Given the description of an element on the screen output the (x, y) to click on. 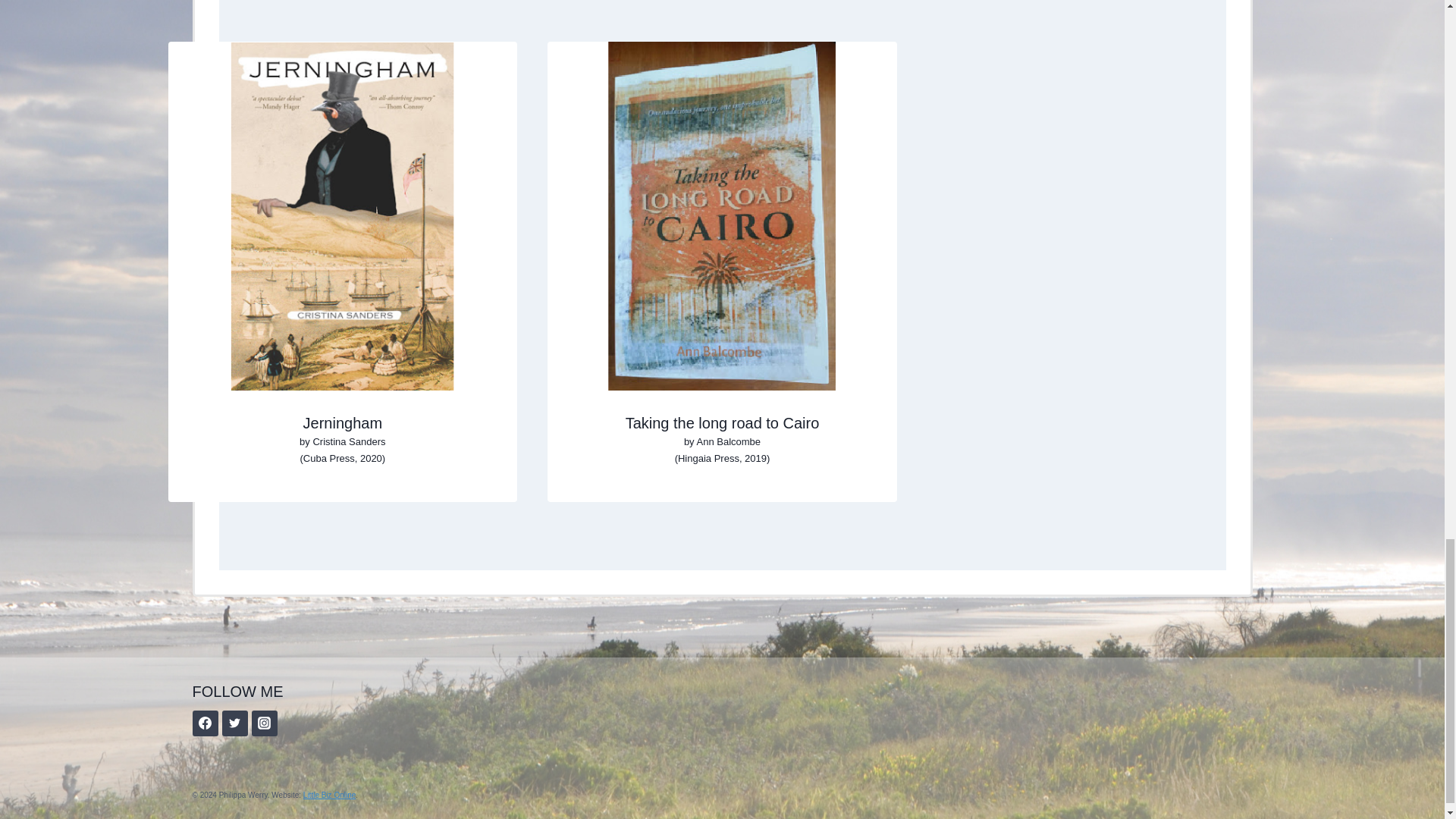
Little Biz Online (328, 795)
